Given the description of an element on the screen output the (x, y) to click on. 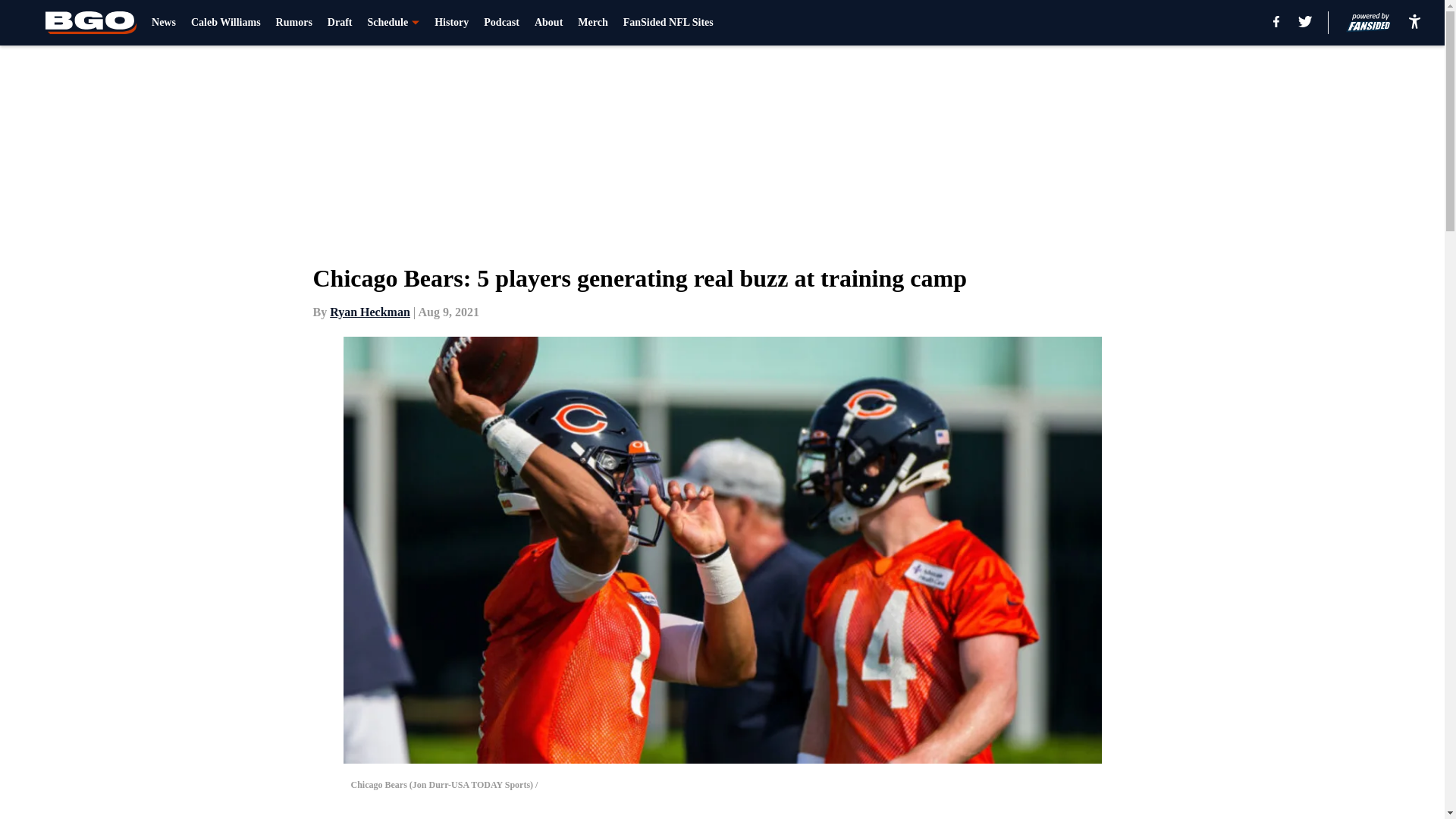
Rumors (294, 22)
Podcast (501, 22)
About (548, 22)
Caleb Williams (225, 22)
Merch (592, 22)
Ryan Heckman (370, 311)
Draft (339, 22)
News (163, 22)
FanSided NFL Sites (668, 22)
History (450, 22)
